Given the description of an element on the screen output the (x, y) to click on. 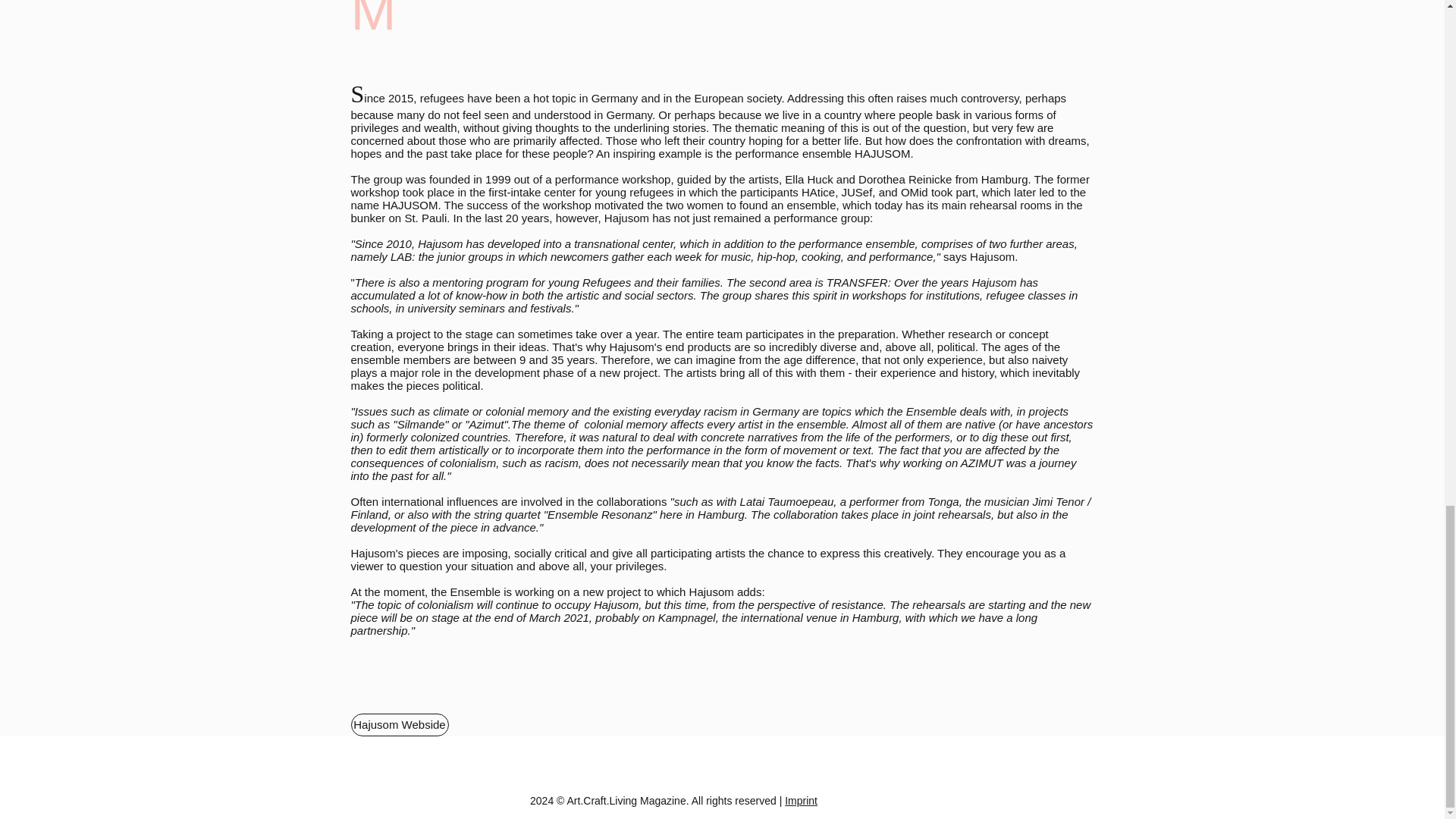
Hajusom Webside (399, 724)
Imprint (800, 800)
